Given the description of an element on the screen output the (x, y) to click on. 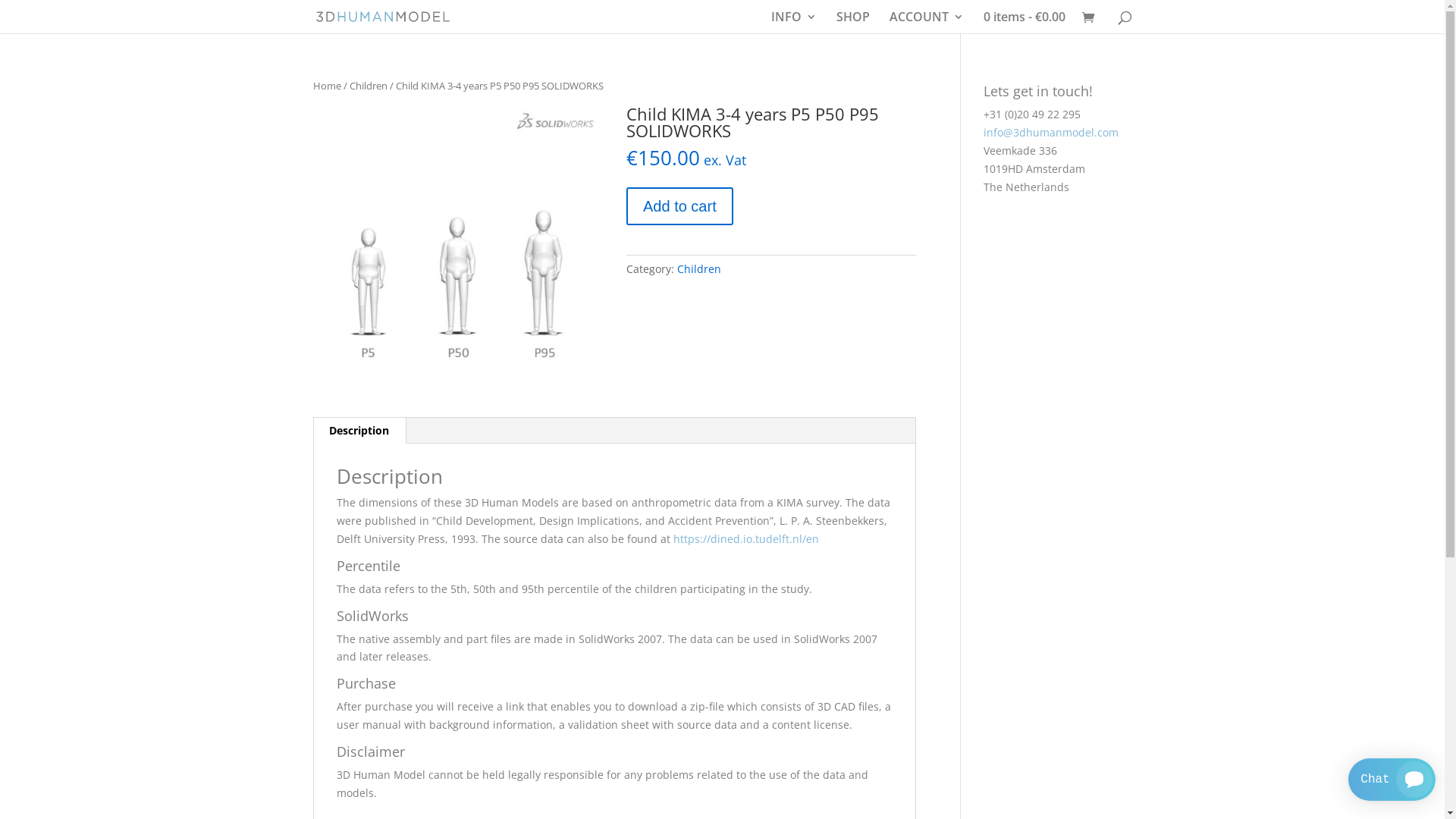
ACCOUNT Element type: text (925, 22)
Add to cart Element type: text (679, 206)
Description Element type: text (358, 430)
https://dined.io.tudelft.nl/en Element type: text (746, 538)
Smartsupp widget button Element type: hover (1391, 779)
SHOP Element type: text (852, 22)
Children Element type: text (699, 268)
3D-Human-Model-Child-KIMA-3-4-years-P5-P50-P95-SOLIDWORKS Element type: hover (457, 250)
Home Element type: text (326, 85)
Children Element type: text (367, 85)
+31 (0)20 49 22 295 Element type: text (1031, 113)
info@3dhumanmodel.com Element type: text (1050, 132)
INFO Element type: text (792, 22)
